Given the description of an element on the screen output the (x, y) to click on. 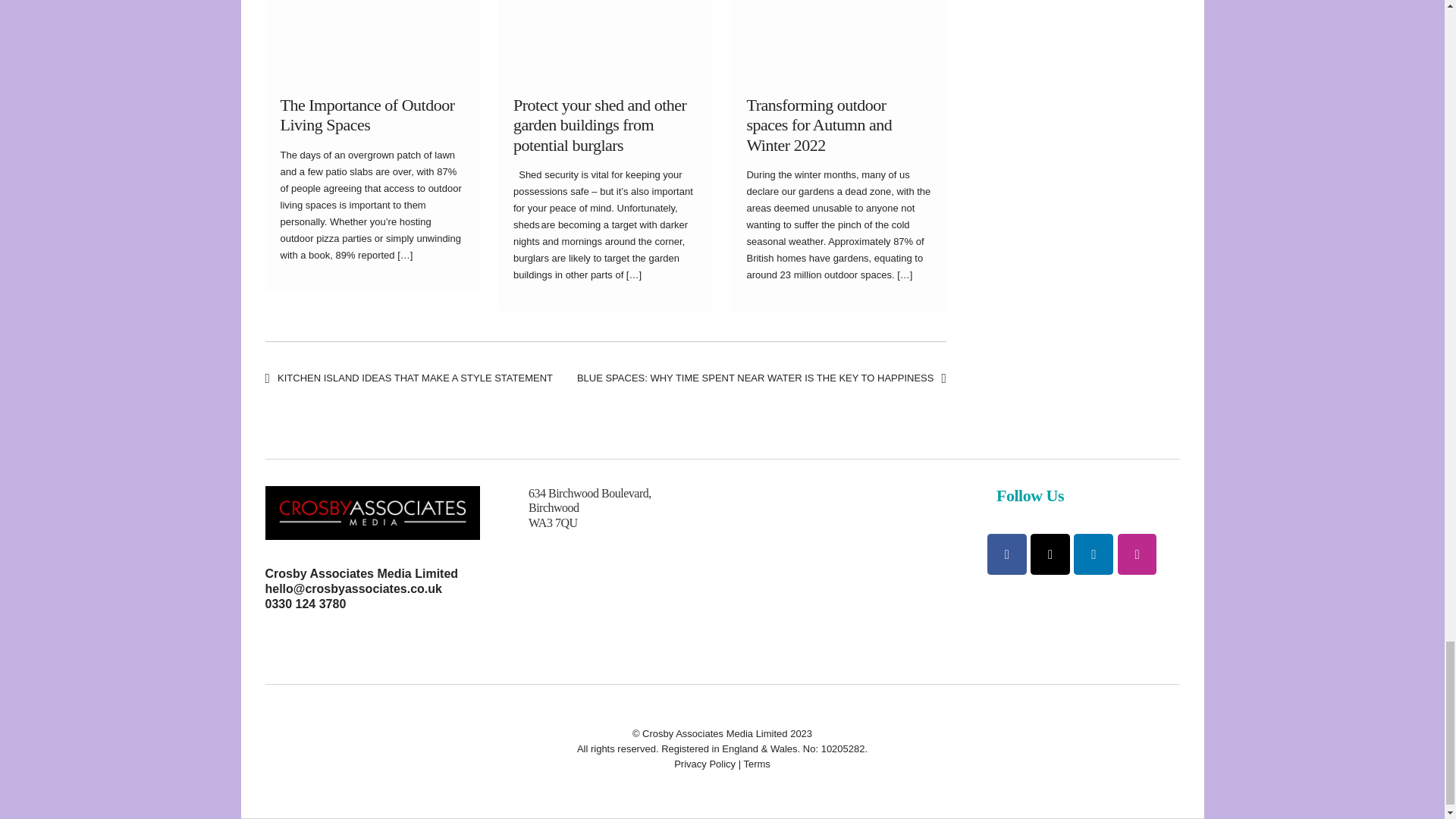
The Importance of Outdoor Living Spaces (367, 114)
 on Instagram (1137, 553)
0330 124 3780 (305, 603)
 on X Twitter (1050, 553)
 on Linkedin (1093, 553)
Transforming outdoor spaces for Autumn and Winter 2022 (818, 124)
Crosby Associates Media Limited  (362, 573)
KITCHEN ISLAND IDEAS THAT MAKE A STYLE STATEMENT (408, 377)
The Importance of Outdoor Living Spaces (367, 114)
Transforming outdoor spaces for Autumn and Winter 2022 (818, 124)
 on Facebook (1006, 553)
